Given the description of an element on the screen output the (x, y) to click on. 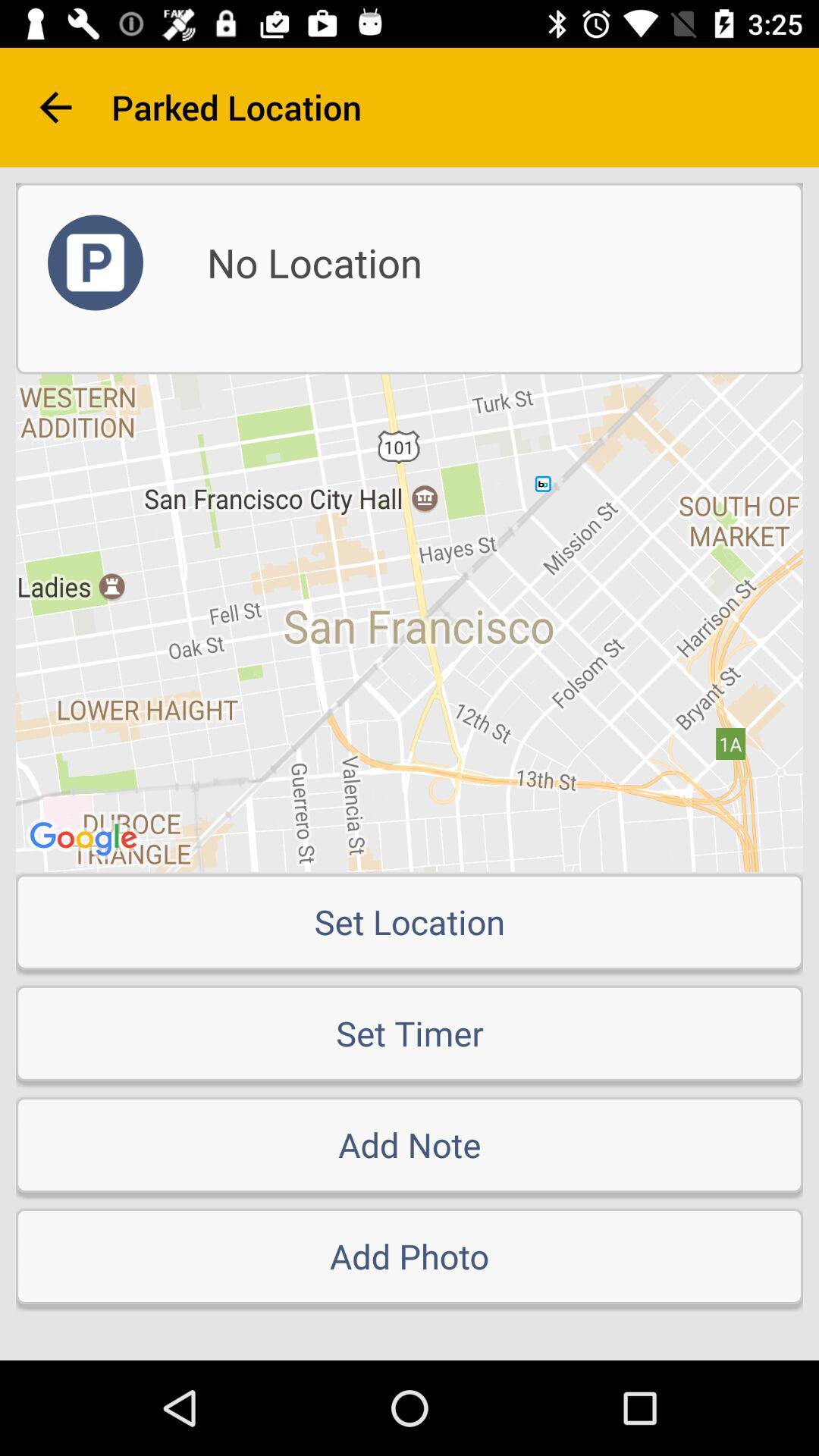
turn off item next to the parked location (55, 107)
